Given the description of an element on the screen output the (x, y) to click on. 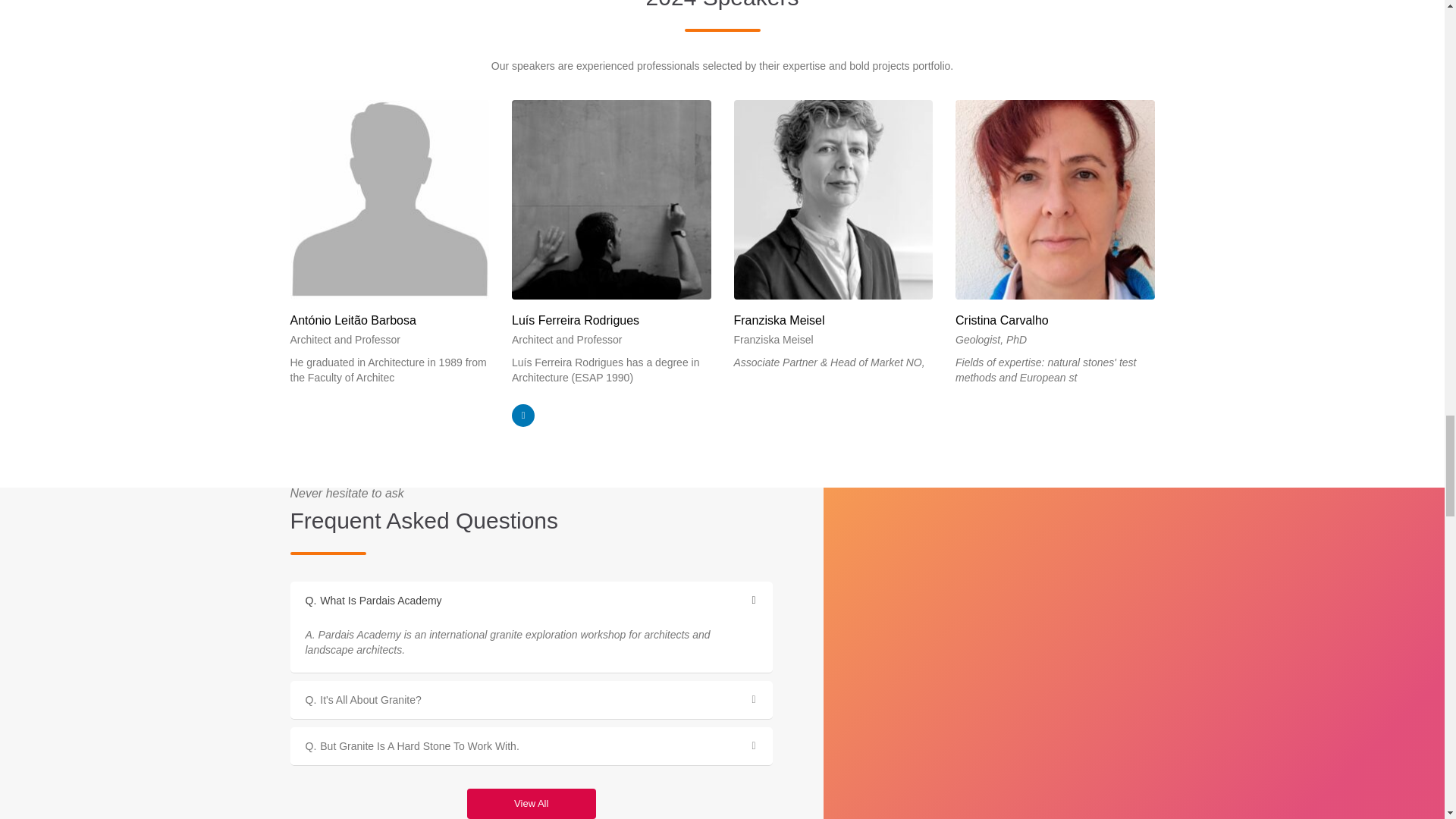
Franziska Meisel (833, 320)
View All (531, 803)
Cristina Carvalho (1054, 320)
